Given the description of an element on the screen output the (x, y) to click on. 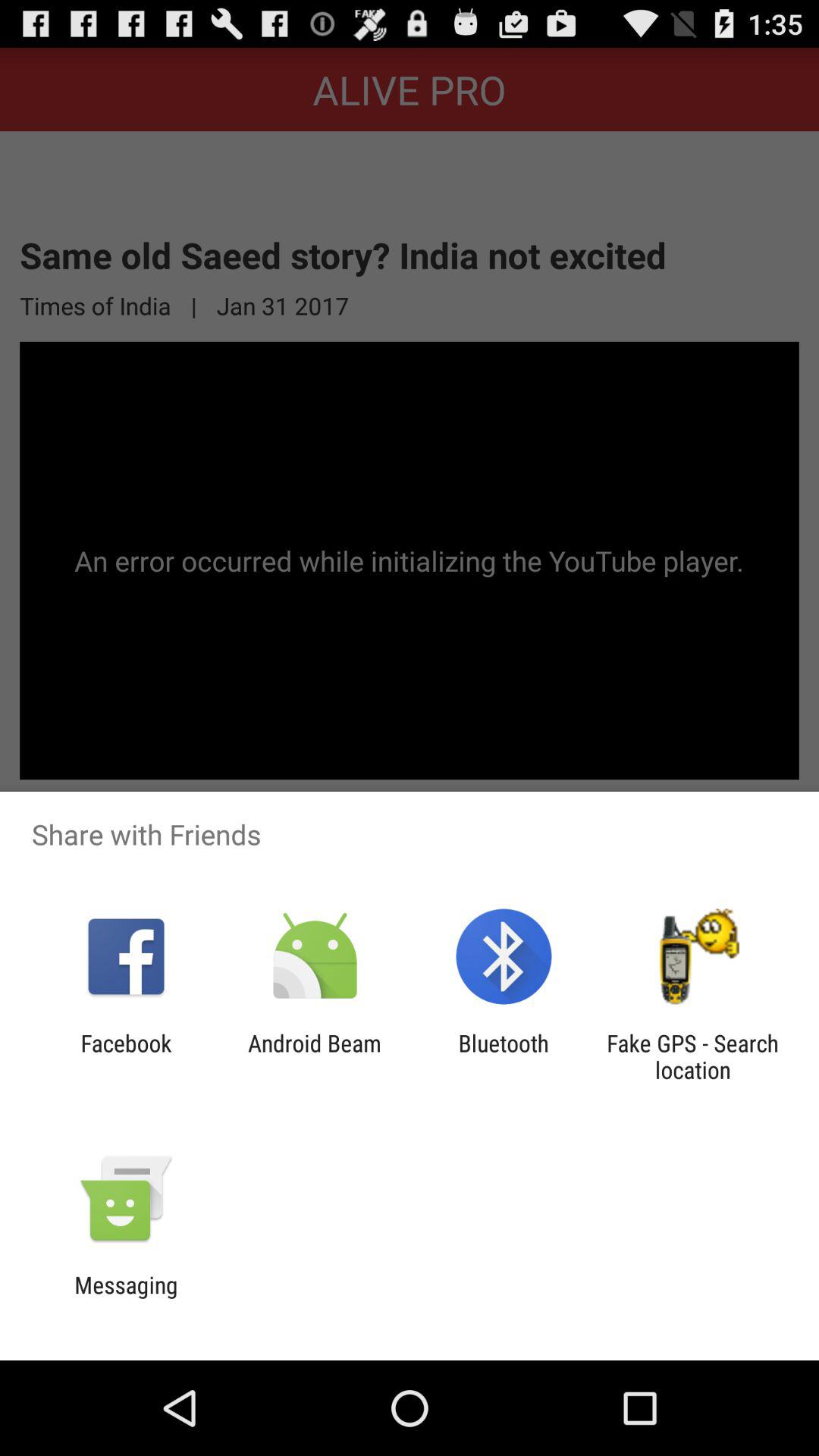
flip to the fake gps search item (692, 1056)
